Given the description of an element on the screen output the (x, y) to click on. 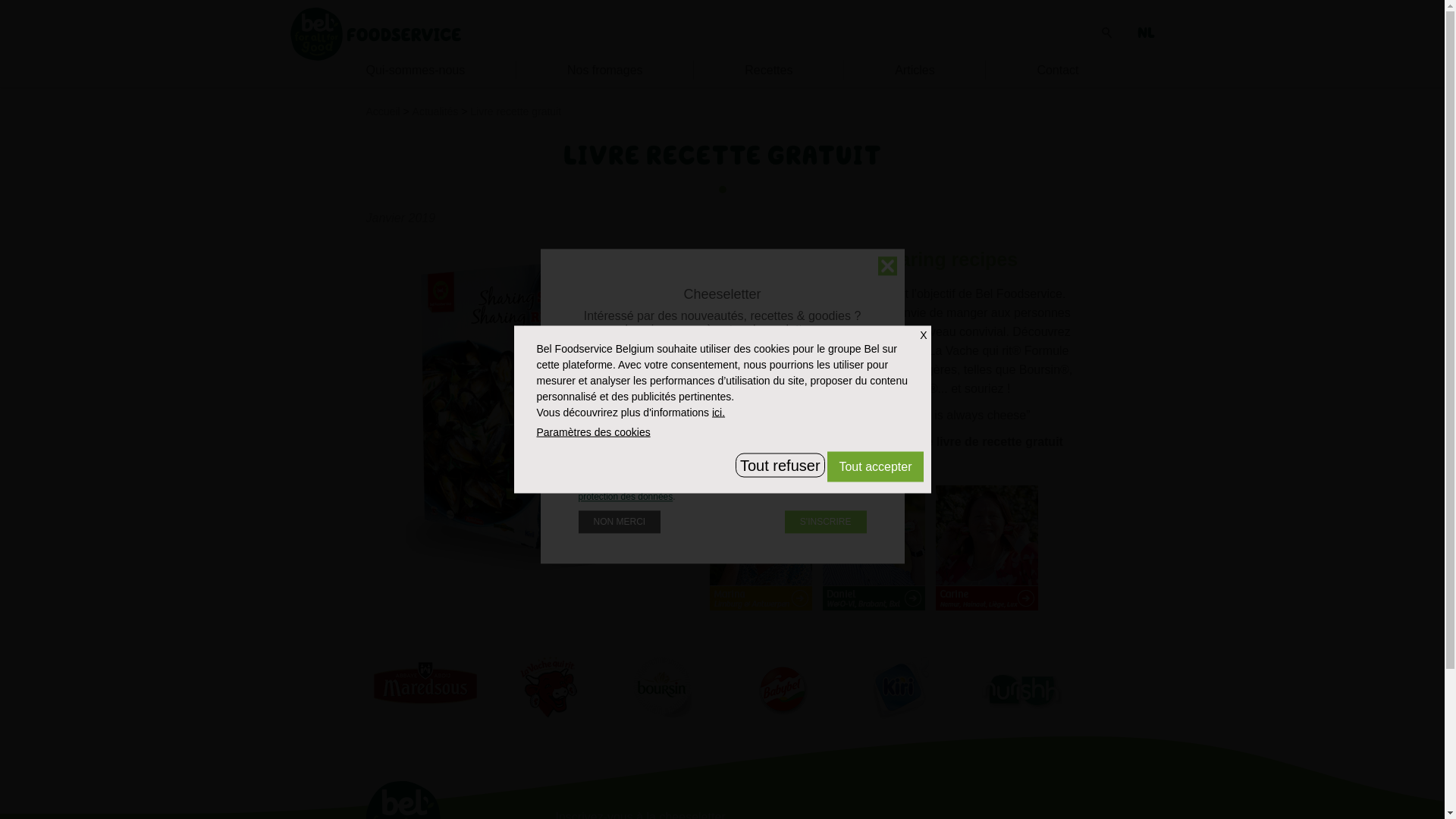
Nos fromages Element type: text (605, 69)
S'INSCRIRE Element type: text (825, 521)
Contact Element type: text (1057, 69)
NL Element type: text (1145, 32)
Qui-sommes-nous Element type: text (414, 69)
NON MERCI Element type: text (618, 521)
ici. Element type: text (718, 412)
Accueil Element type: text (382, 111)
Articles Element type: text (914, 69)
Livre recette gratuit Element type: text (515, 111)
Recettes Element type: text (768, 69)
